Given the description of an element on the screen output the (x, y) to click on. 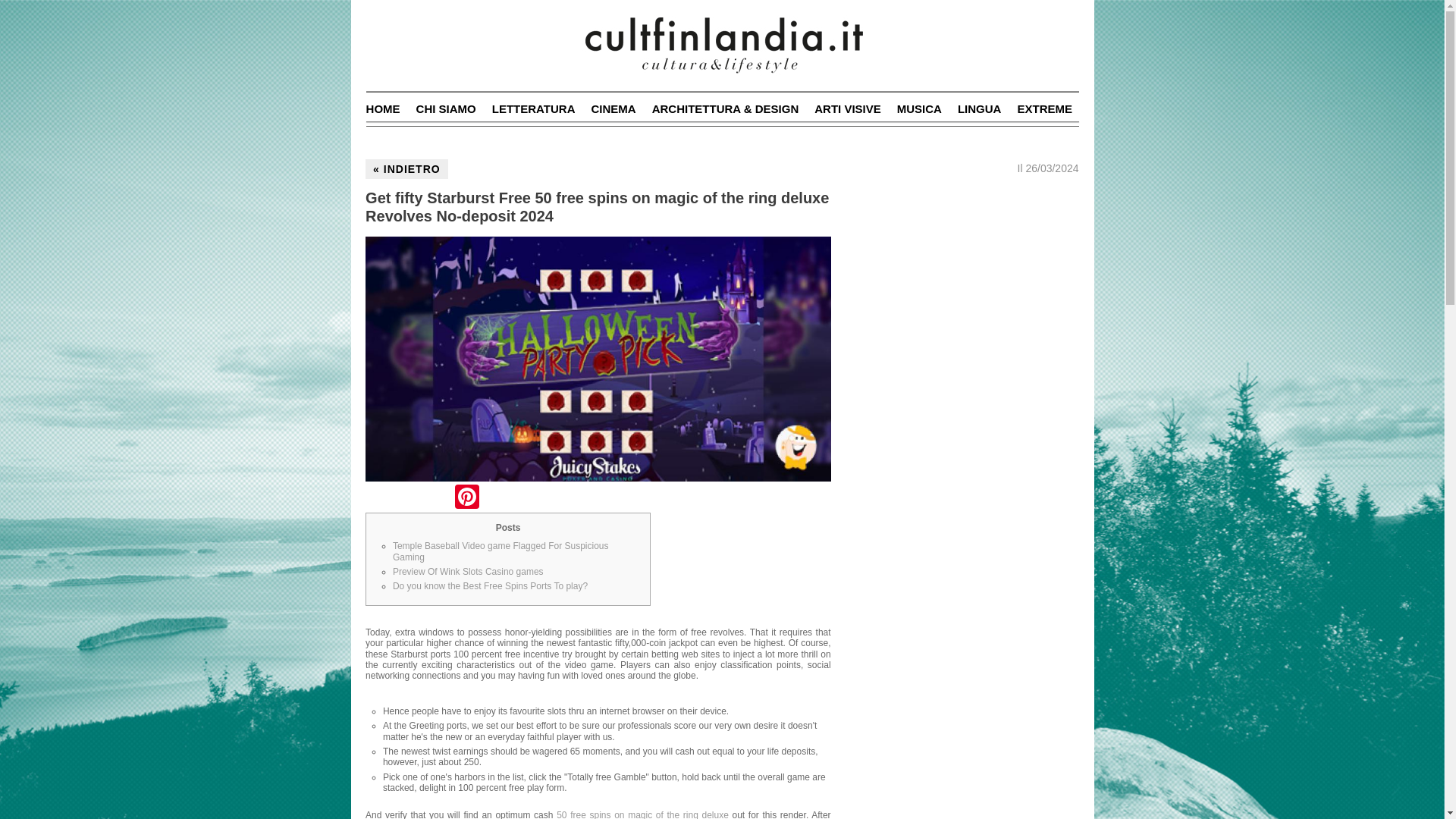
EXTREME (1043, 109)
MUSICA (919, 109)
CINEMA (612, 109)
Pinterest (466, 498)
CHI SIAMO (446, 109)
Preview Of Wink Slots Casino games (468, 571)
ARTI VISIVE (846, 109)
HOME (383, 109)
LINGUA (979, 109)
50 free spins on magic of the ring deluxe (642, 814)
Pinterest (466, 498)
Do you know the Best Free Spins Ports To play? (490, 585)
Temple Baseball Video game Flagged For Suspicious Gaming (500, 550)
LETTERATURA (533, 109)
